Given the description of an element on the screen output the (x, y) to click on. 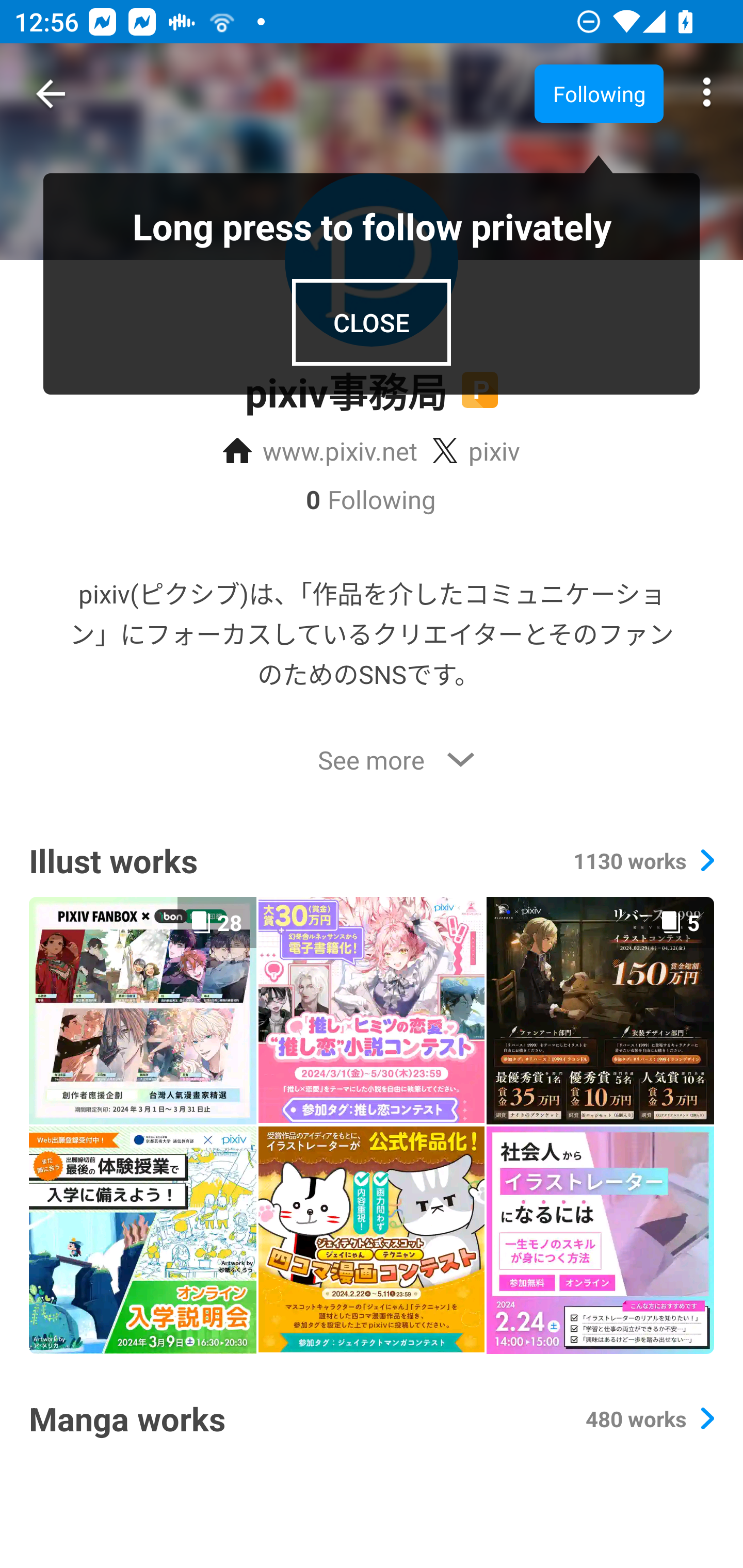
Navigate up (50, 93)
More options (706, 93)
Following (598, 93)
CLOSE (371, 322)
www.pixiv.net (319, 450)
pixiv (476, 450)
0 Following (371, 498)
See more (371, 760)
1130 works (643, 859)
28 (142, 1010)
5 (600, 1010)
480 works (649, 1418)
